Given the description of an element on the screen output the (x, y) to click on. 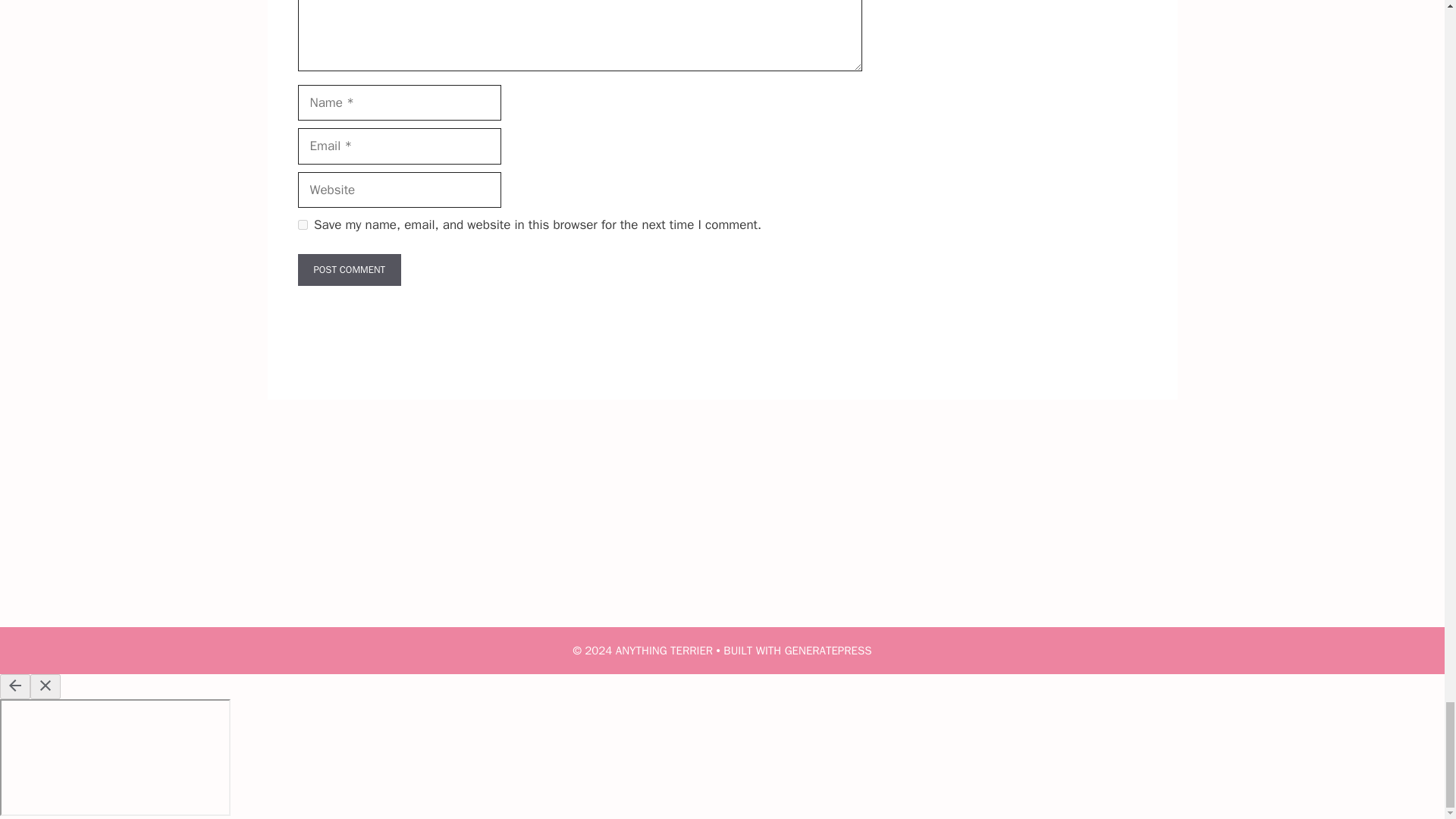
Post Comment (349, 269)
Post Comment (349, 269)
yes (302, 225)
